Given the description of an element on the screen output the (x, y) to click on. 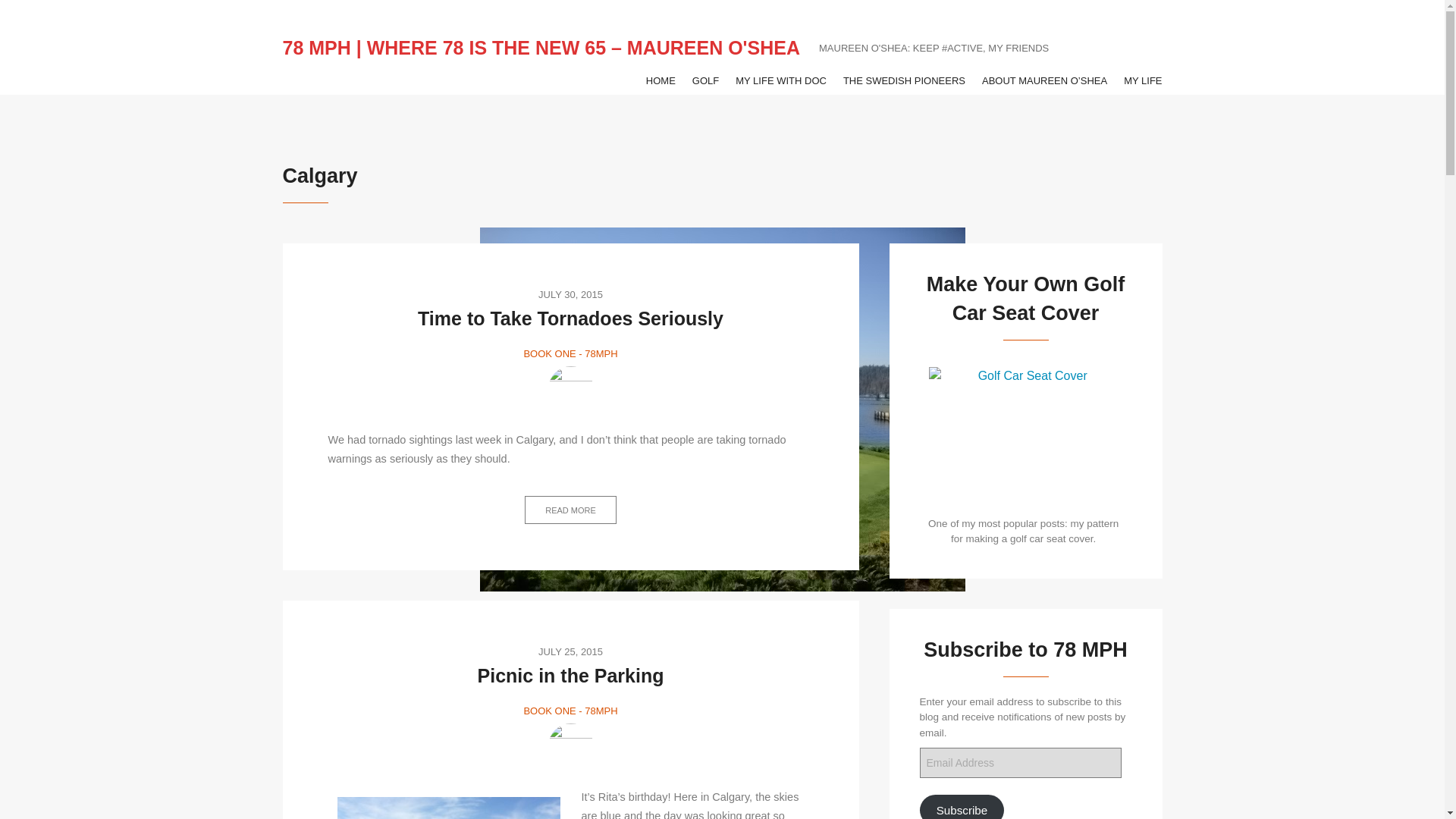
BOOK ONE - 78MPH (569, 710)
Picnic in the Parking (570, 675)
Time to Take Tornadoes Seriously (570, 318)
JULY 25, 2015 (570, 650)
GOLF (706, 80)
Maureen O'Shea (570, 388)
Maureen O'Shea (570, 746)
MY LIFE WITH DOC (781, 80)
Time to Take Tornadoes Seriously (570, 318)
HOME (660, 80)
